Given the description of an element on the screen output the (x, y) to click on. 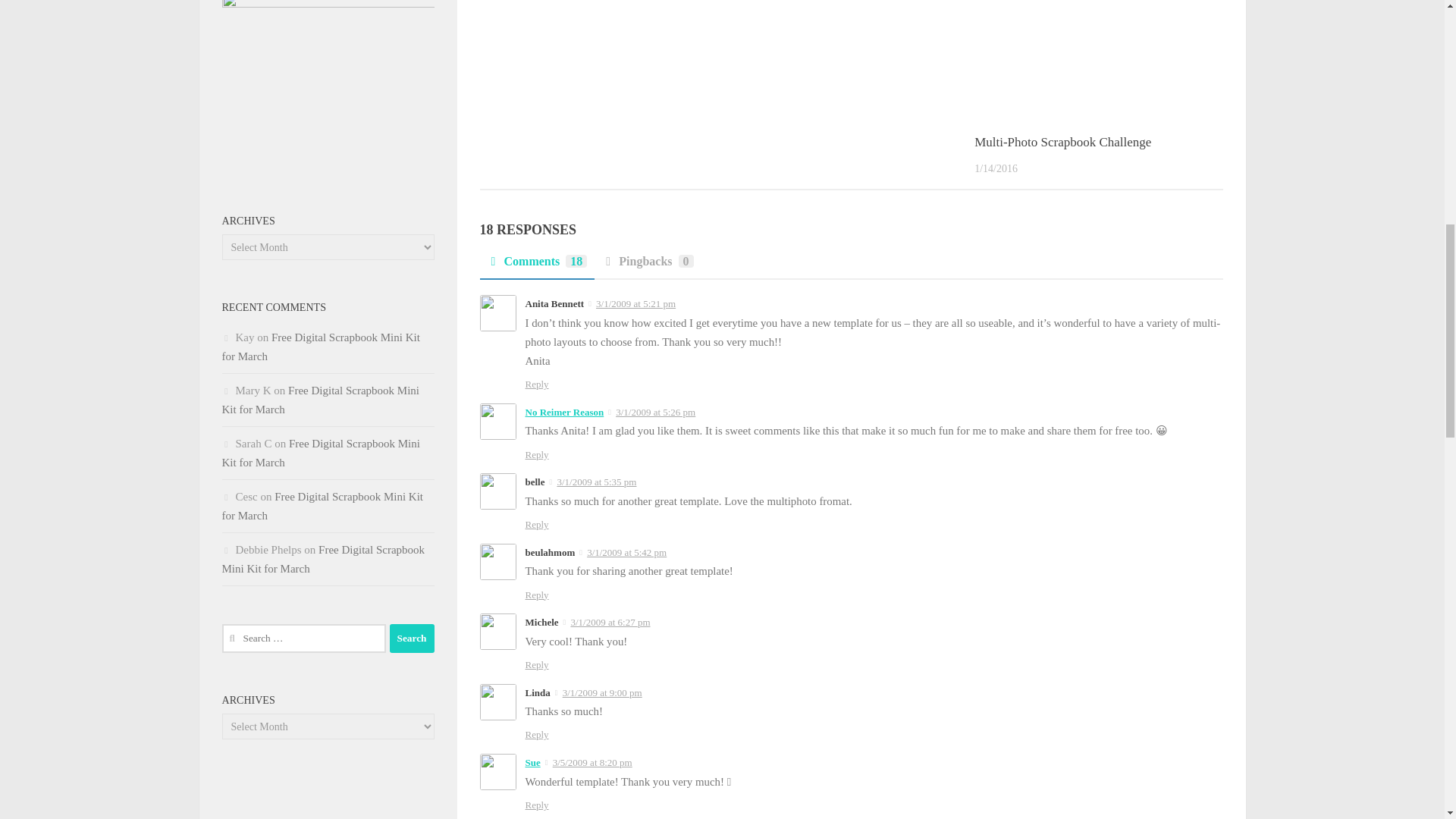
Pingbacks0 (647, 266)
Multi-Photo Scrapbook Challenge (1062, 142)
Search (411, 638)
Comments18 (536, 266)
Search (411, 638)
